Given the description of an element on the screen output the (x, y) to click on. 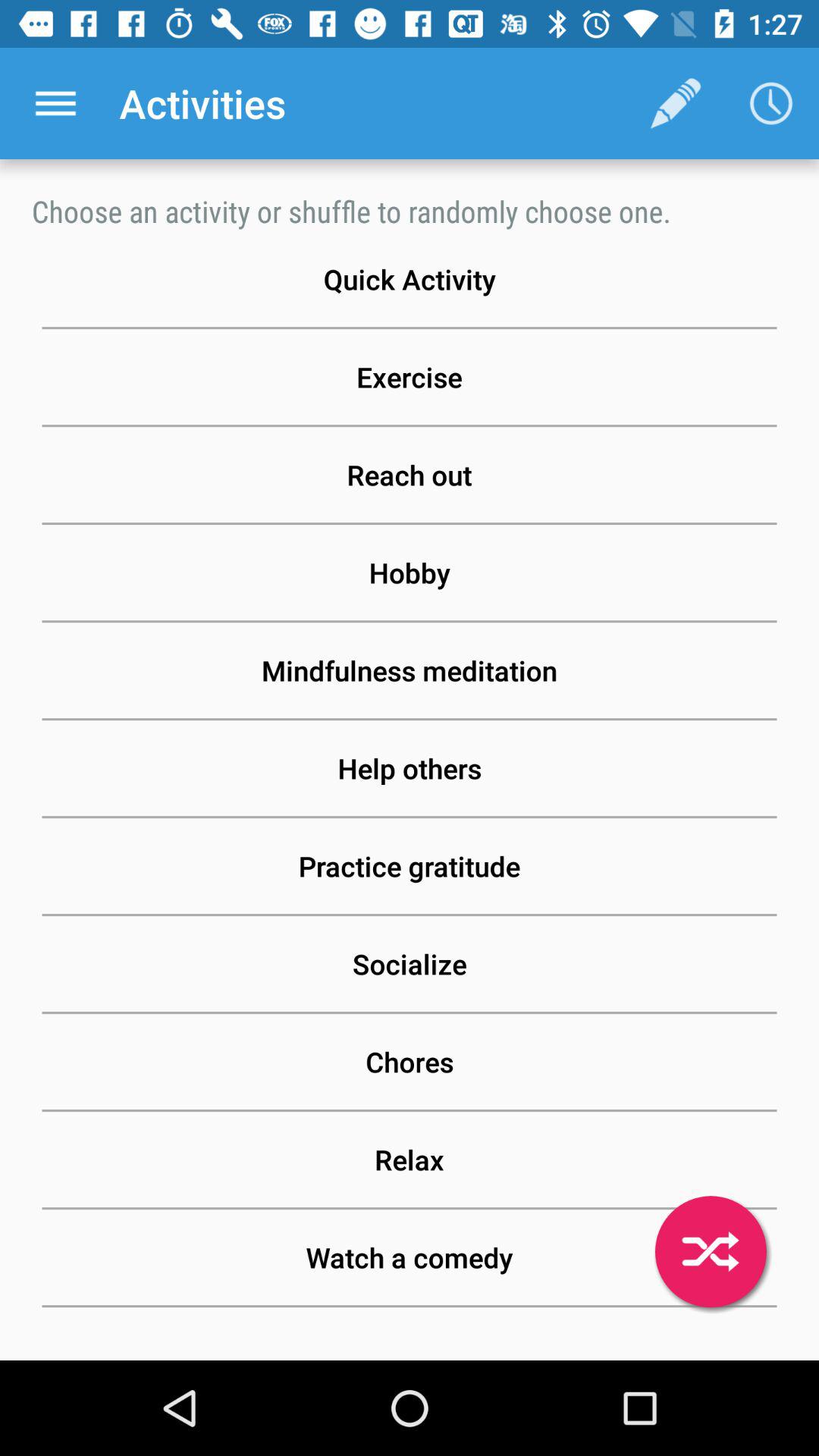
tap item at the bottom right corner (710, 1251)
